Given the description of an element on the screen output the (x, y) to click on. 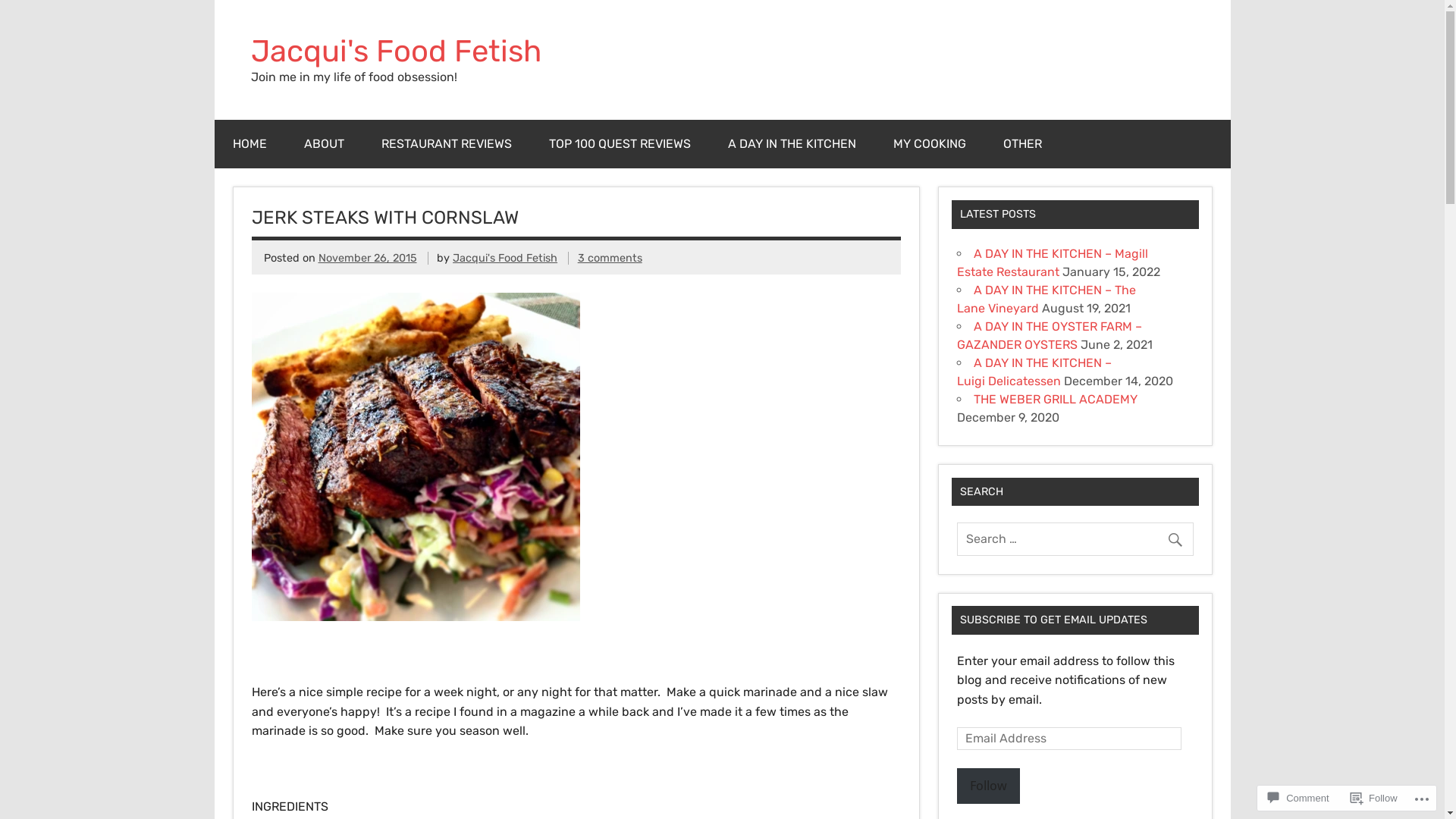
3 comments Element type: text (609, 257)
THE WEBER GRILL ACADEMY Element type: text (1055, 399)
Jacqui's Food Fetish Element type: text (504, 257)
Comment Element type: text (1297, 797)
TOP 100 QUEST REVIEWS Element type: text (619, 143)
A DAY IN THE KITCHEN Element type: text (791, 143)
Follow Element type: text (1373, 797)
November 26, 2015 Element type: text (367, 257)
ABOUT Element type: text (323, 143)
HOME Element type: text (248, 143)
Jacqui's Food Fetish Element type: text (395, 51)
MY COOKING Element type: text (929, 143)
Follow Element type: text (988, 786)
OTHER Element type: text (1021, 143)
RESTAURANT REVIEWS Element type: text (445, 143)
